Given the description of an element on the screen output the (x, y) to click on. 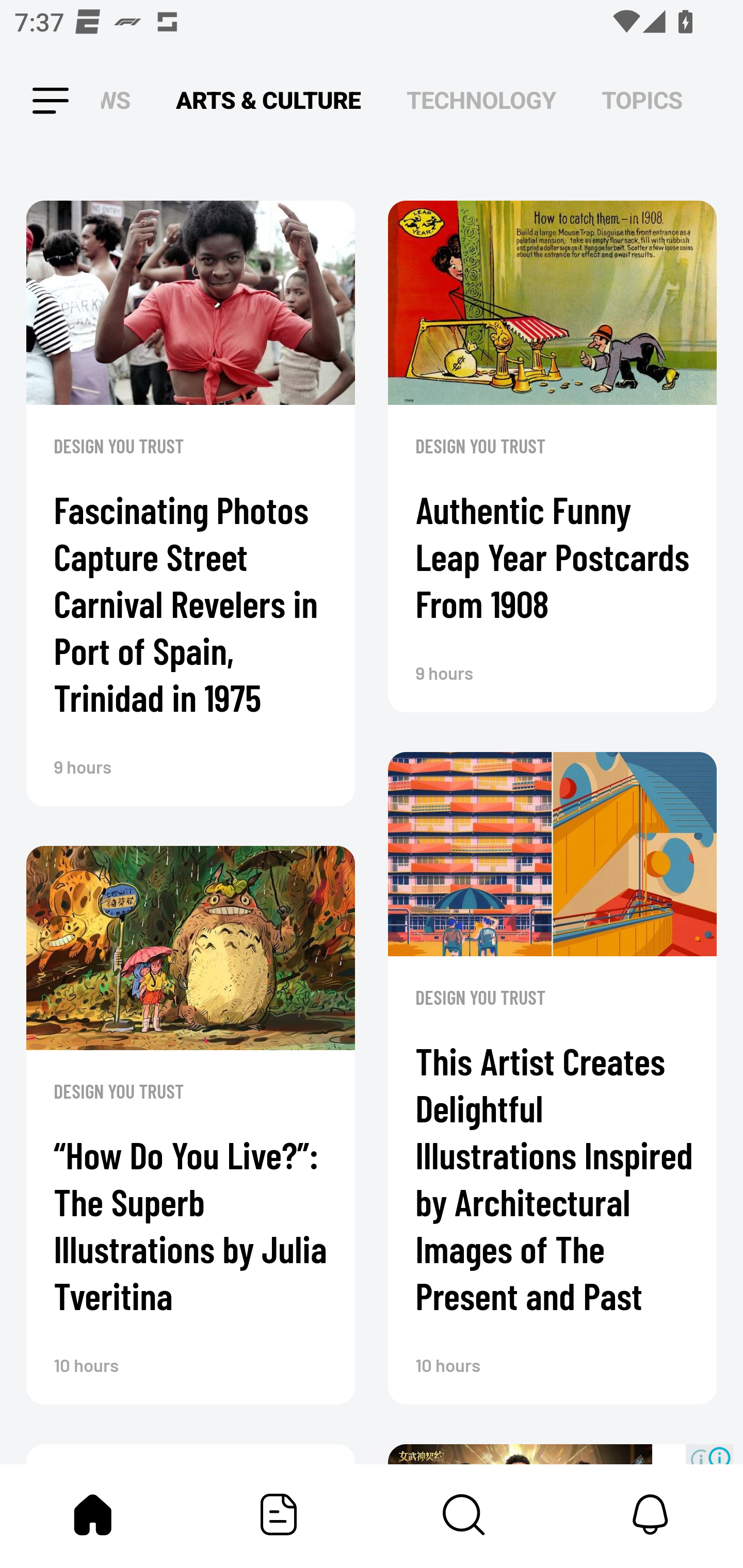
NEWS (121, 100)
TECHNOLOGY (481, 100)
TOPICS (641, 100)
Featured (278, 1514)
Content Store (464, 1514)
Notifications (650, 1514)
